Given the description of an element on the screen output the (x, y) to click on. 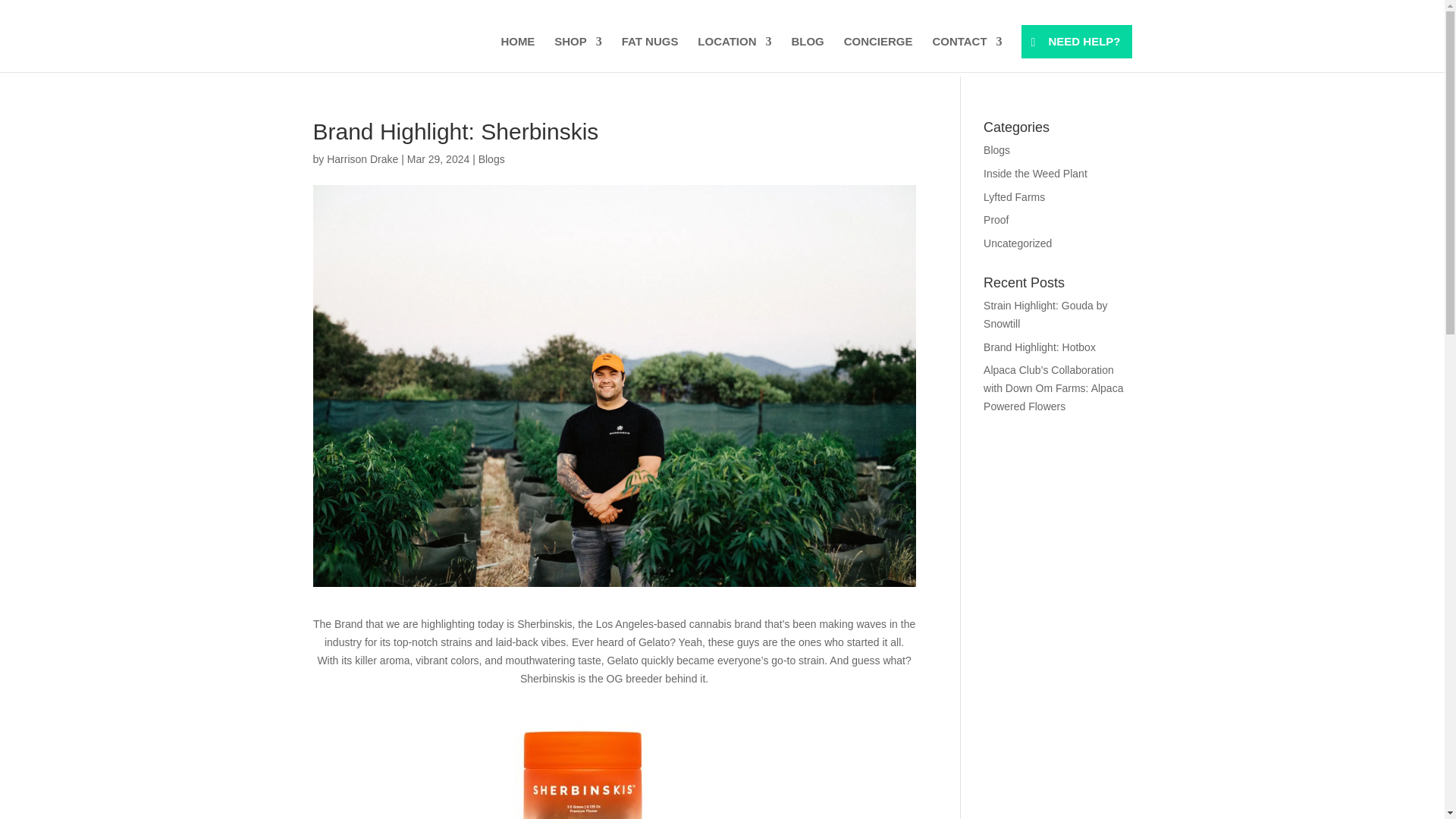
SHOP (578, 54)
CONCIERGE (878, 54)
LOCATION (734, 54)
HOME (517, 54)
NEED HELP? (1076, 41)
BLOG (807, 54)
FAT NUGS (649, 54)
CONTACT (966, 54)
Posts by Harrison Drake (361, 159)
